Given the description of an element on the screen output the (x, y) to click on. 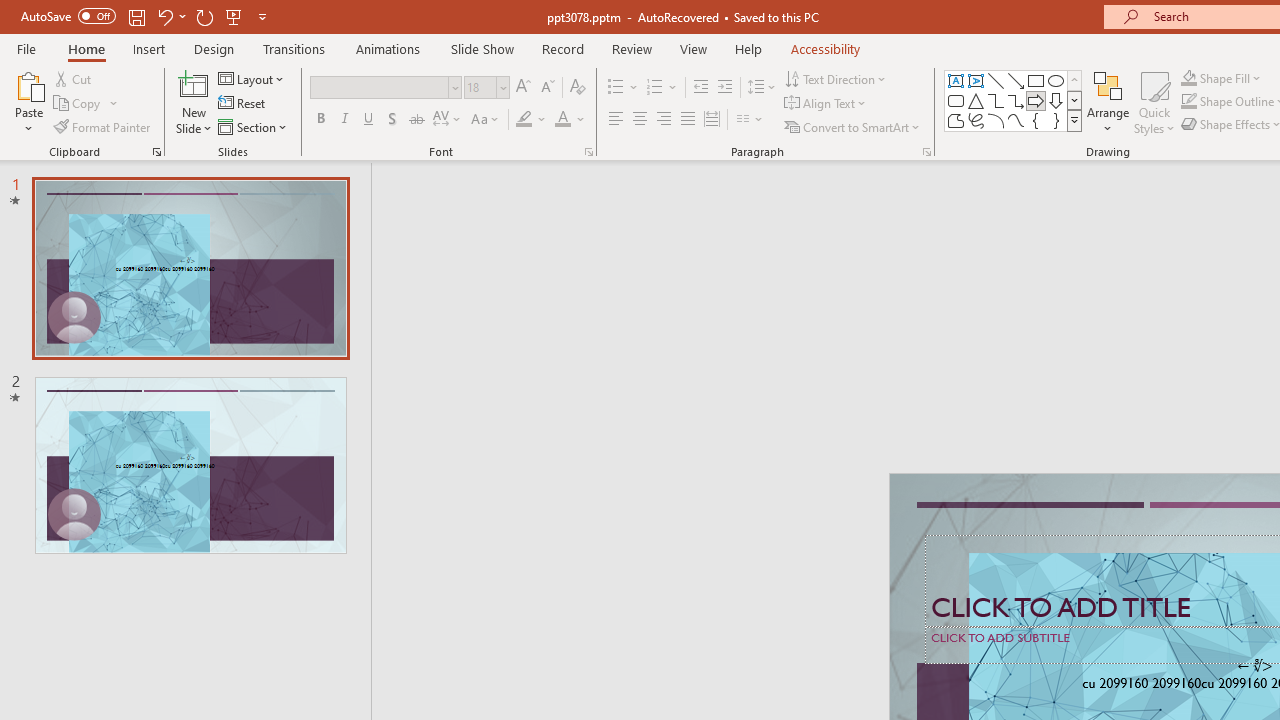
Shape Fill Dark Green, Accent 2 (1188, 78)
